Given the description of an element on the screen output the (x, y) to click on. 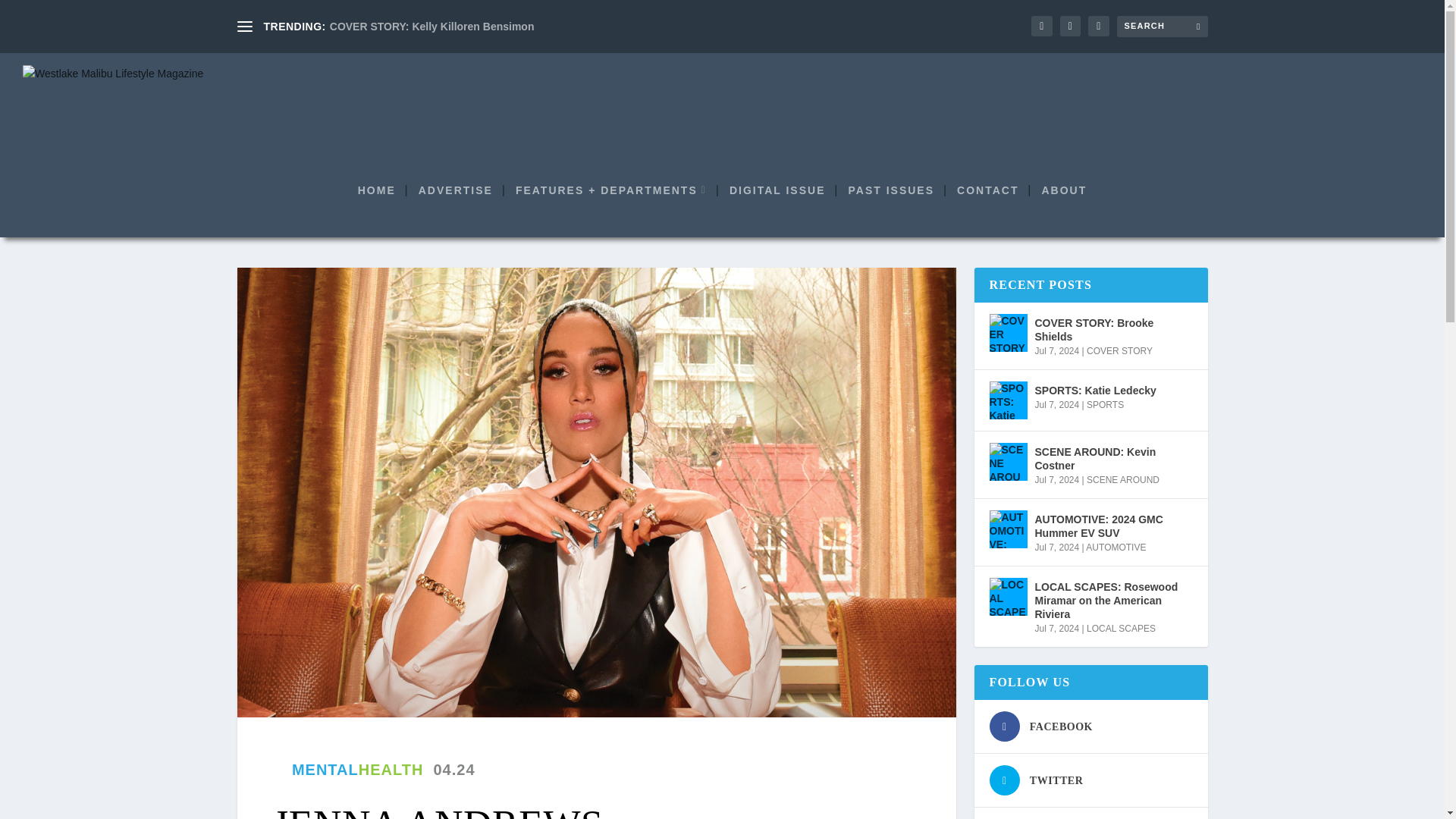
AUTOMOTIVE: 2024 GMC Hummer EV SUV (1007, 528)
COVER STORY: Kelly Killoren Bensimon (432, 26)
DIGITAL ISSUE (777, 210)
Search for: (1161, 25)
CONTACT (986, 210)
SPORTS: Katie Ledecky (1007, 400)
ADVERTISE (456, 210)
Westlake-Malibu-Lifestyle-Web-Banner-main (722, 104)
SCENE AROUND: Kevin Costner (1007, 461)
PAST ISSUES (890, 210)
COVER STORY: Brooke Shields (1007, 332)
